Given the description of an element on the screen output the (x, y) to click on. 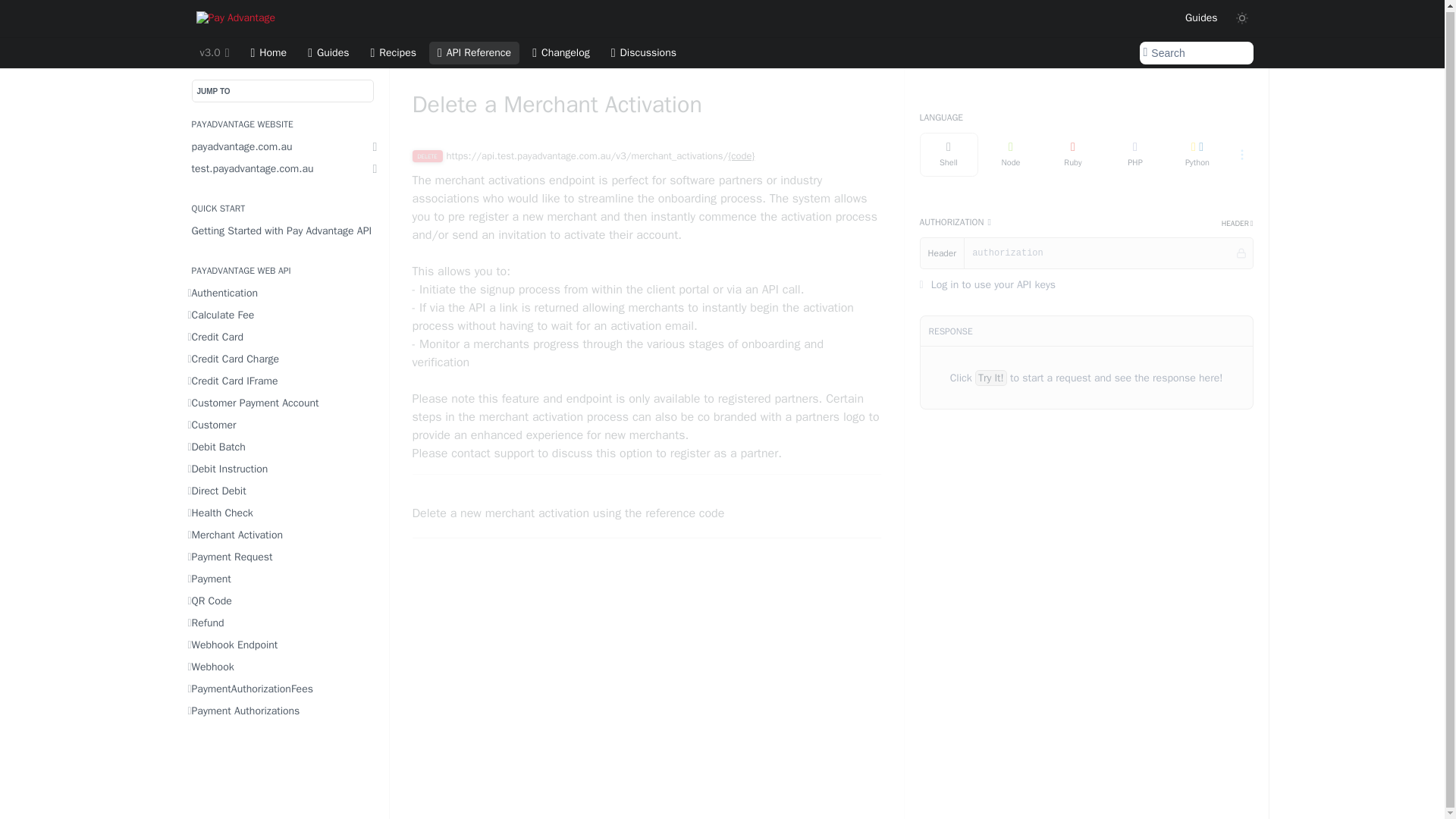
Recipes (393, 52)
Search (1195, 52)
test.payadvantage.com.au (282, 168)
Discussions (643, 52)
Credit Card (282, 336)
Credit Card Charge (282, 358)
API Reference (474, 52)
Guides (327, 52)
Home (269, 52)
payadvantage.com.au (282, 146)
